Given the description of an element on the screen output the (x, y) to click on. 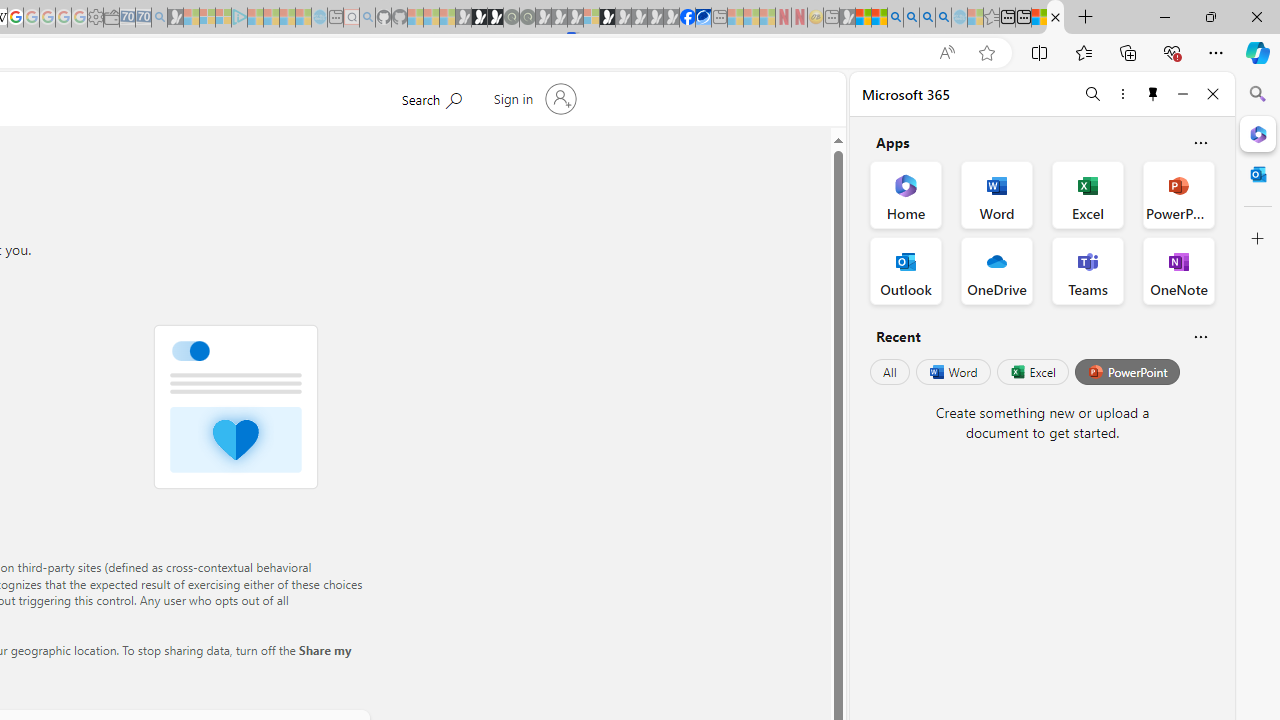
PowerPoint (1127, 372)
OneNote Office App (1178, 270)
MSN - Sleeping (847, 17)
